Given the description of an element on the screen output the (x, y) to click on. 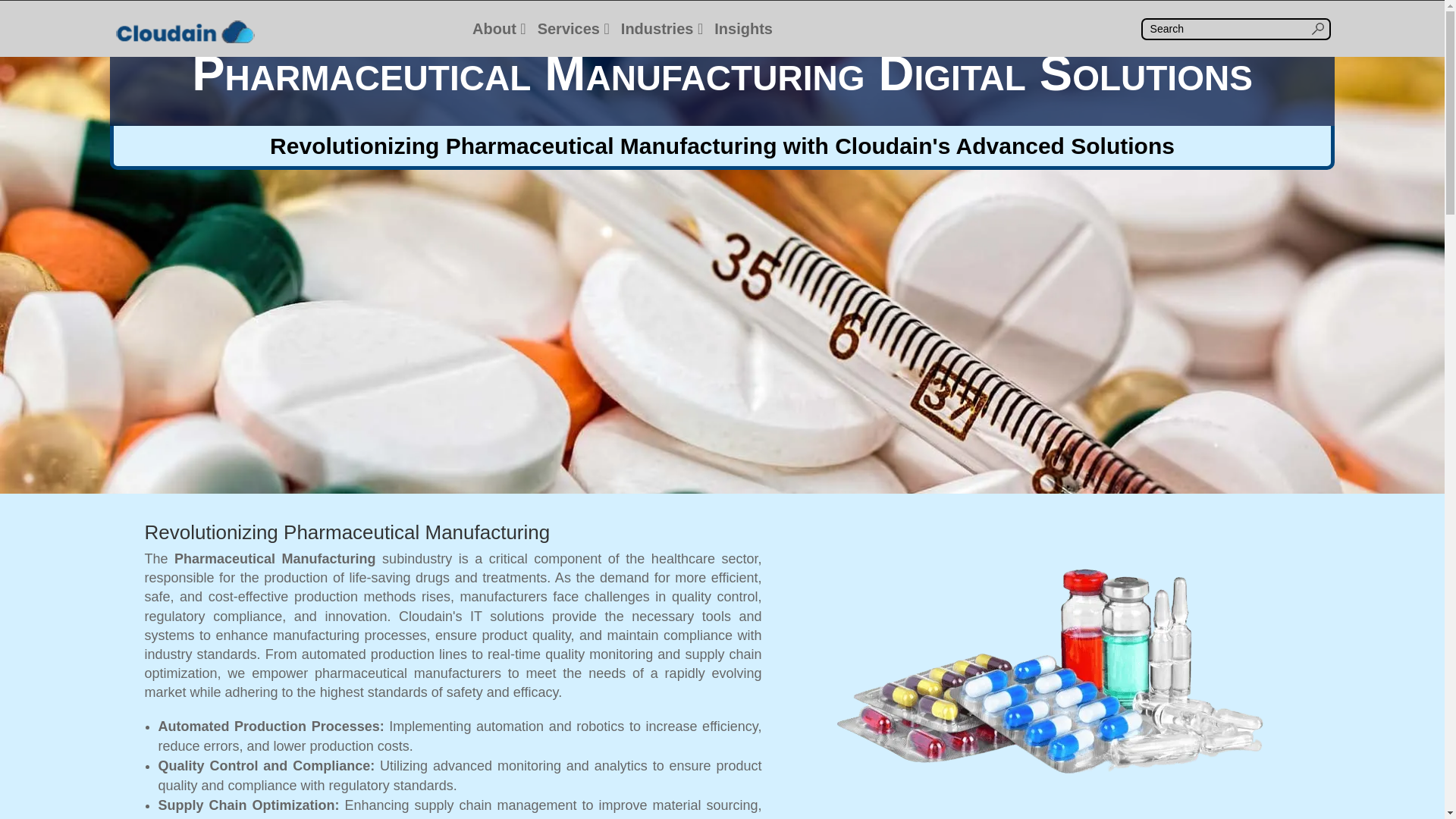
Cloudain Color Logo (185, 32)
Search (24, 13)
